Given the description of an element on the screen output the (x, y) to click on. 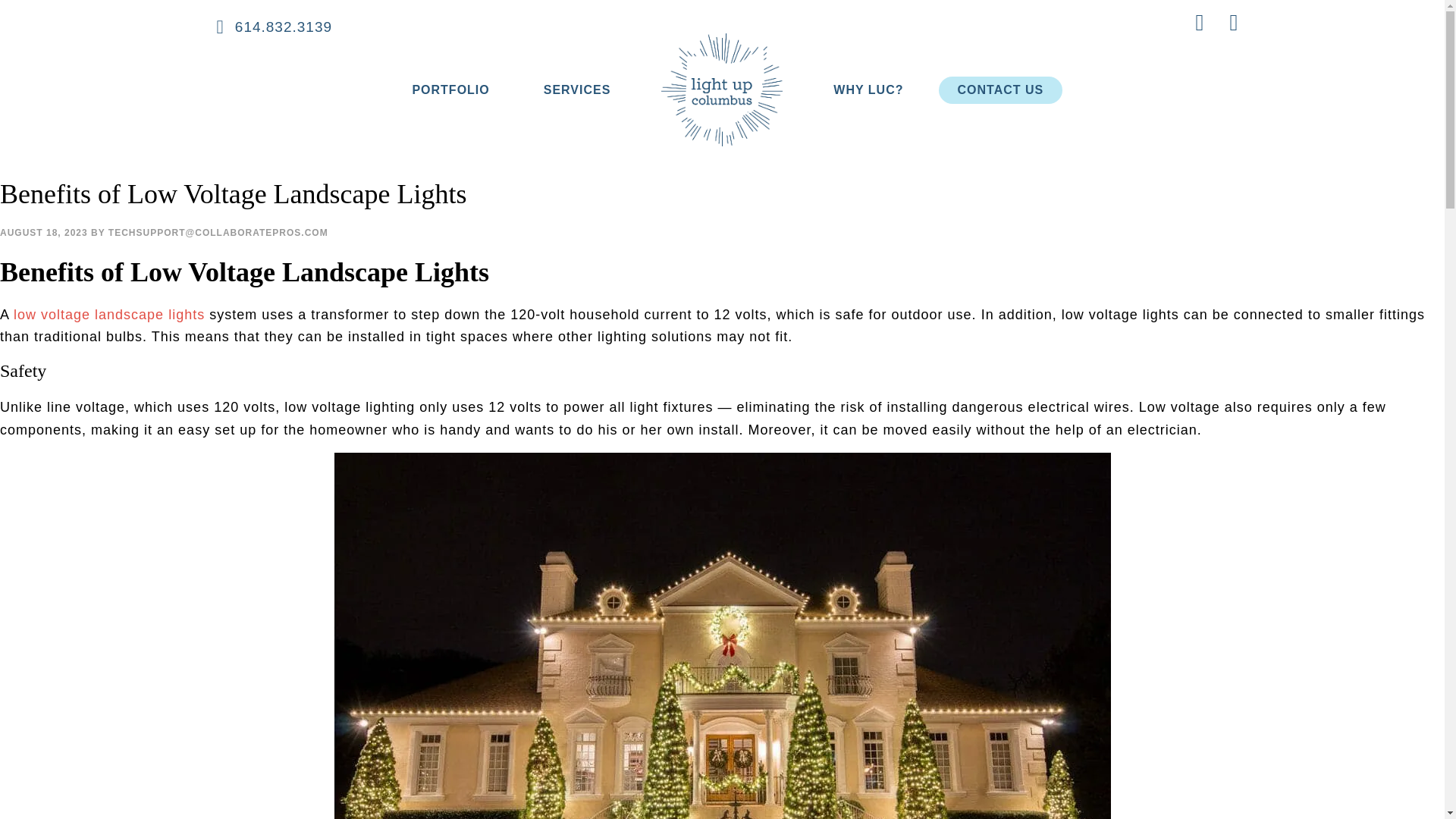
light-up-columbus-logo-footer (722, 89)
PORTFOLIO (450, 90)
WHY LUC? (867, 90)
CONTACT US (1000, 90)
SERVICES (577, 90)
614.832.3139 (273, 27)
